Given the description of an element on the screen output the (x, y) to click on. 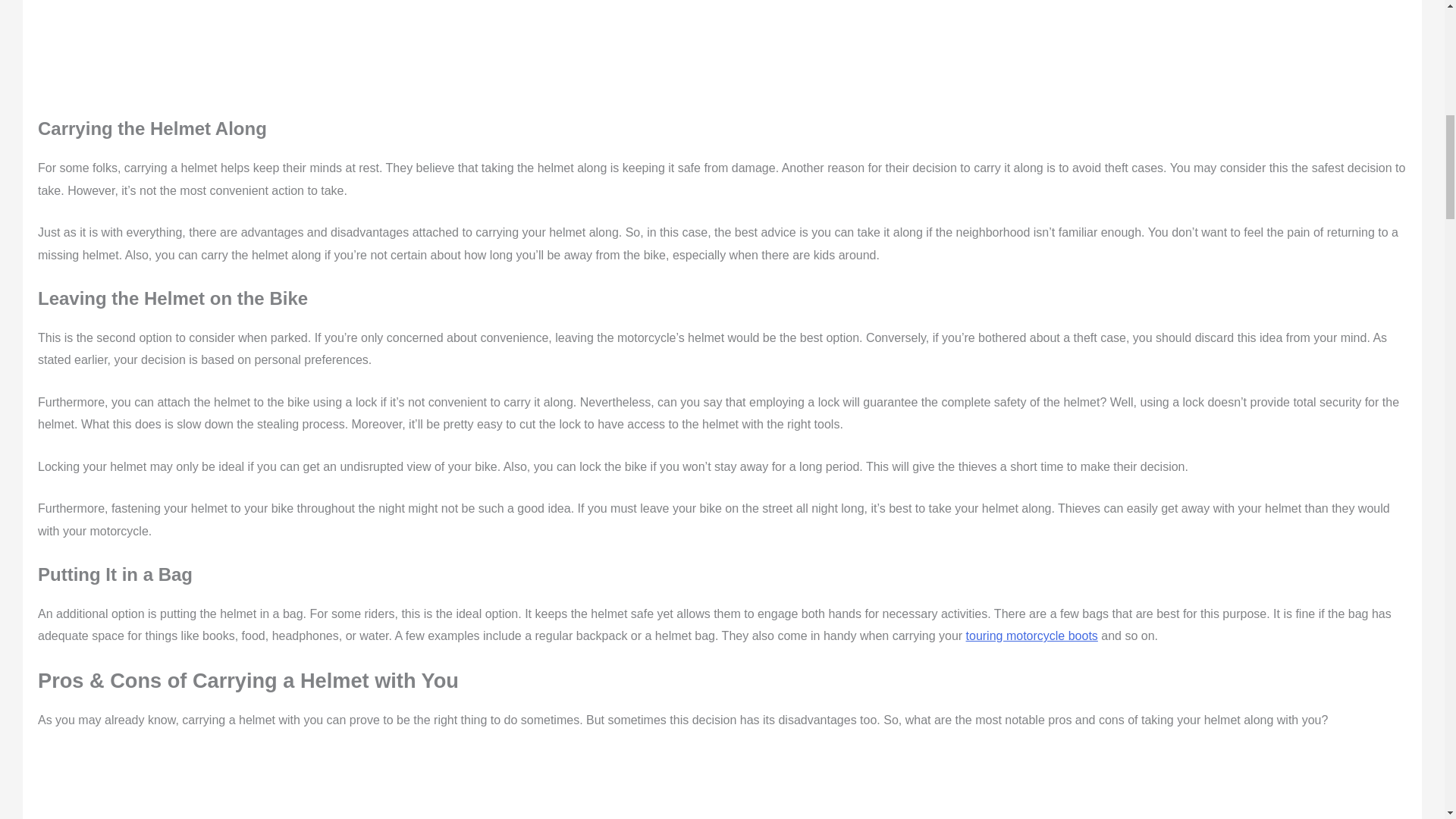
touring motorcycle boots (1031, 635)
